Given the description of an element on the screen output the (x, y) to click on. 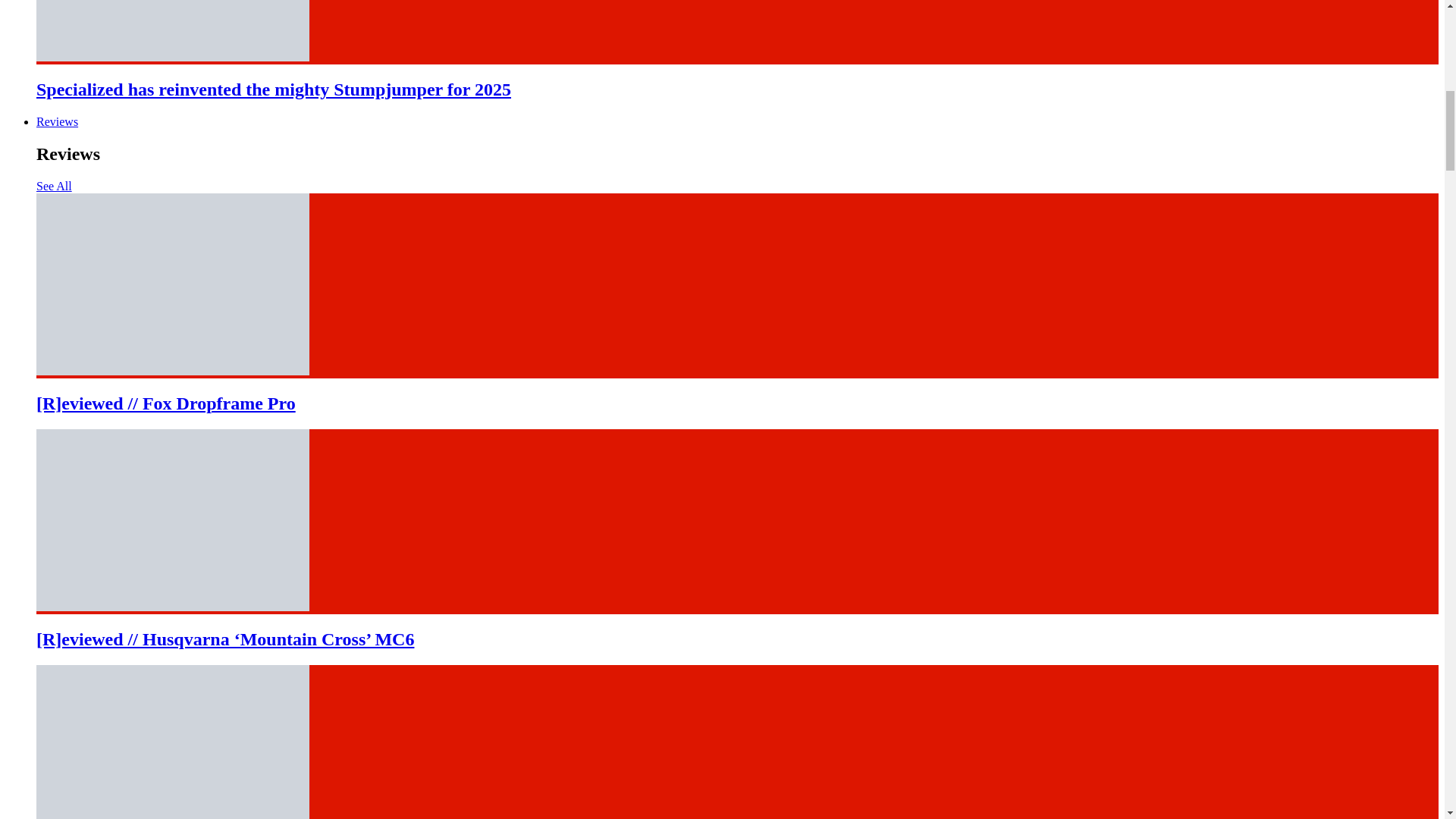
Reviews (57, 121)
Specialized has reinvented the mighty Stumpjumper for 2025 (273, 89)
See All (53, 185)
